Given the description of an element on the screen output the (x, y) to click on. 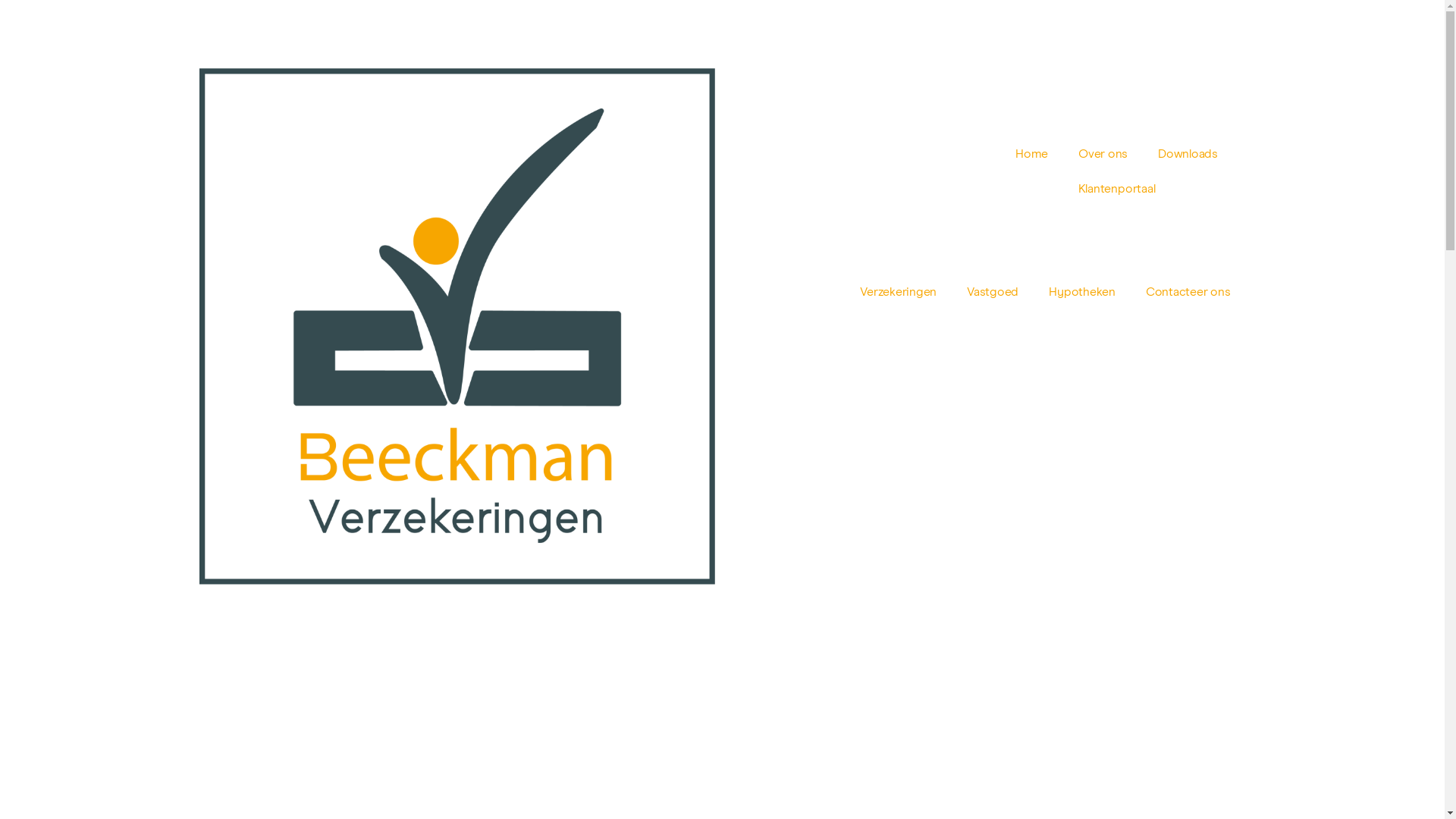
Klantenportaal Element type: text (1116, 188)
Over ons Element type: text (1102, 153)
Contacteer ons Element type: text (1187, 291)
Downloads Element type: text (1187, 153)
Hypotheken Element type: text (1081, 291)
Home Element type: text (1031, 153)
Verzekeringen Element type: text (897, 291)
Vastgoed Element type: text (992, 291)
